Given the description of an element on the screen output the (x, y) to click on. 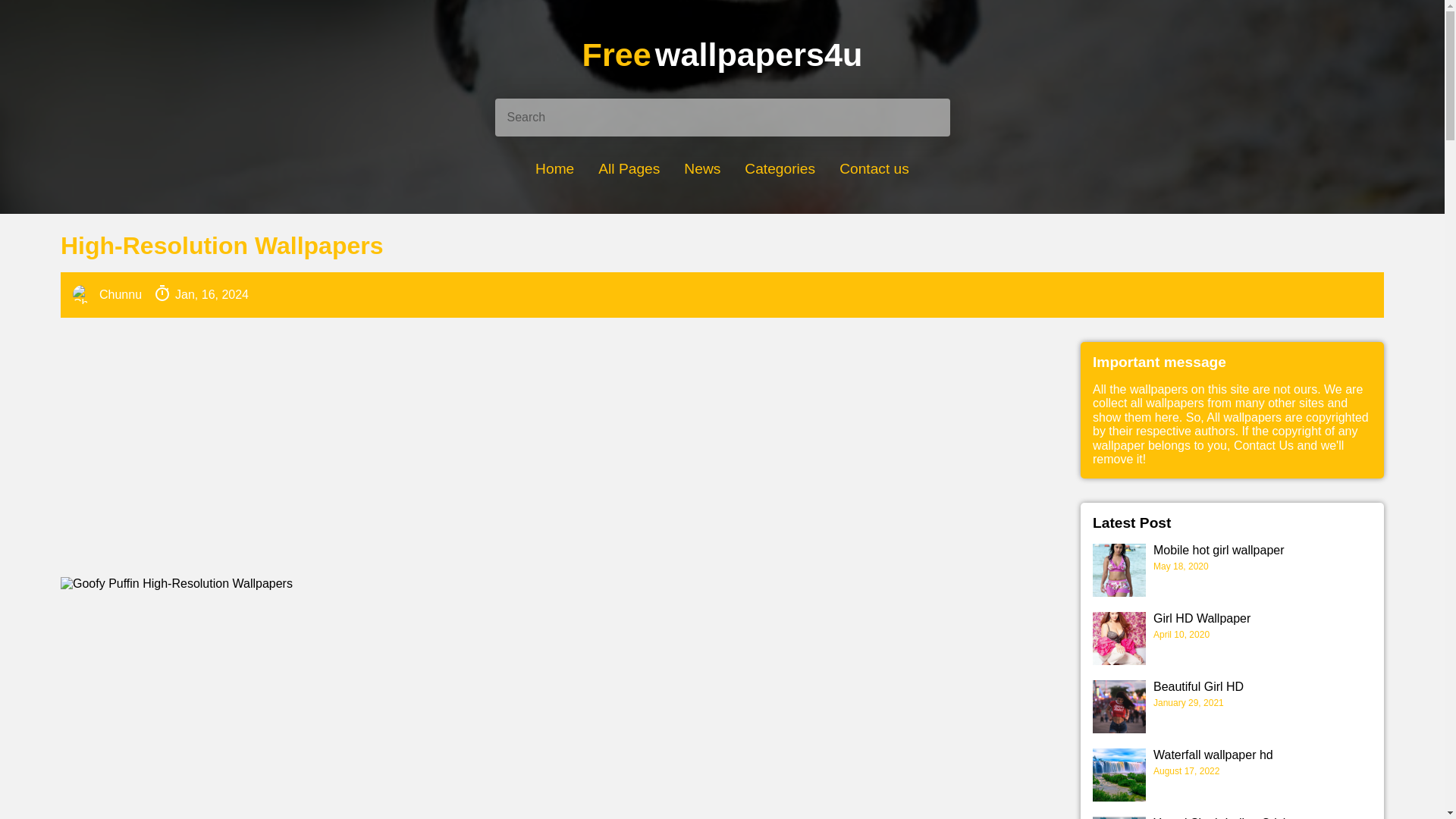
High-Resolution Wallpapers (722, 245)
Yuvraj Singh Indian Cricketer (1262, 817)
Beautiful Girl HD (1262, 686)
News (702, 168)
Girl HD Wallpaper (1262, 618)
Contact us (874, 168)
Mobile hot girl wallpaper (1262, 550)
Home (554, 168)
Freewallpapers4u (722, 55)
All Pages (628, 168)
Categories (779, 168)
Waterfall wallpaper hd (1262, 755)
